Given the description of an element on the screen output the (x, y) to click on. 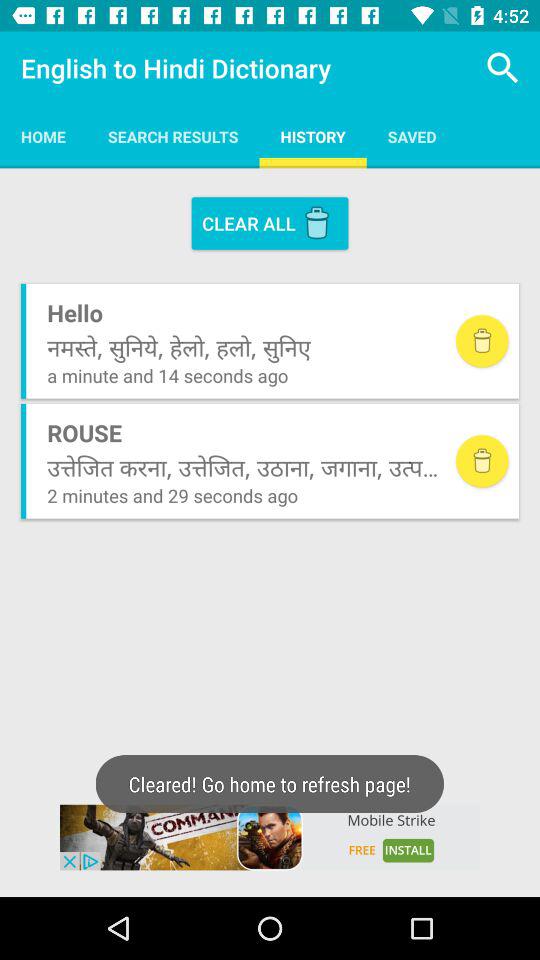
give advertisement information (270, 837)
